Given the description of an element on the screen output the (x, y) to click on. 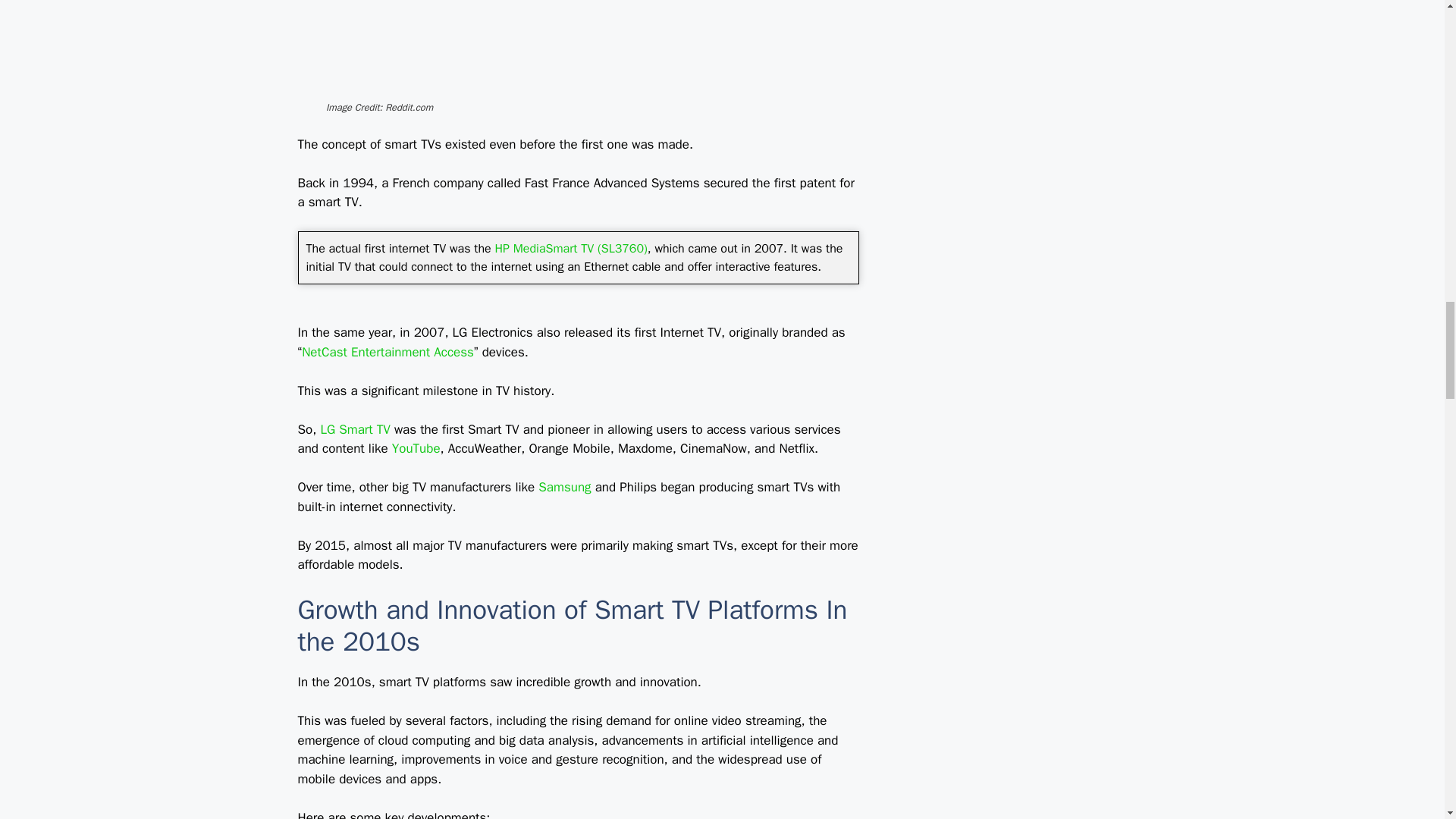
LG Smart TV (355, 429)
Samsung (564, 487)
YouTube (416, 448)
NetCast Entertainment Access (387, 351)
